Given the description of an element on the screen output the (x, y) to click on. 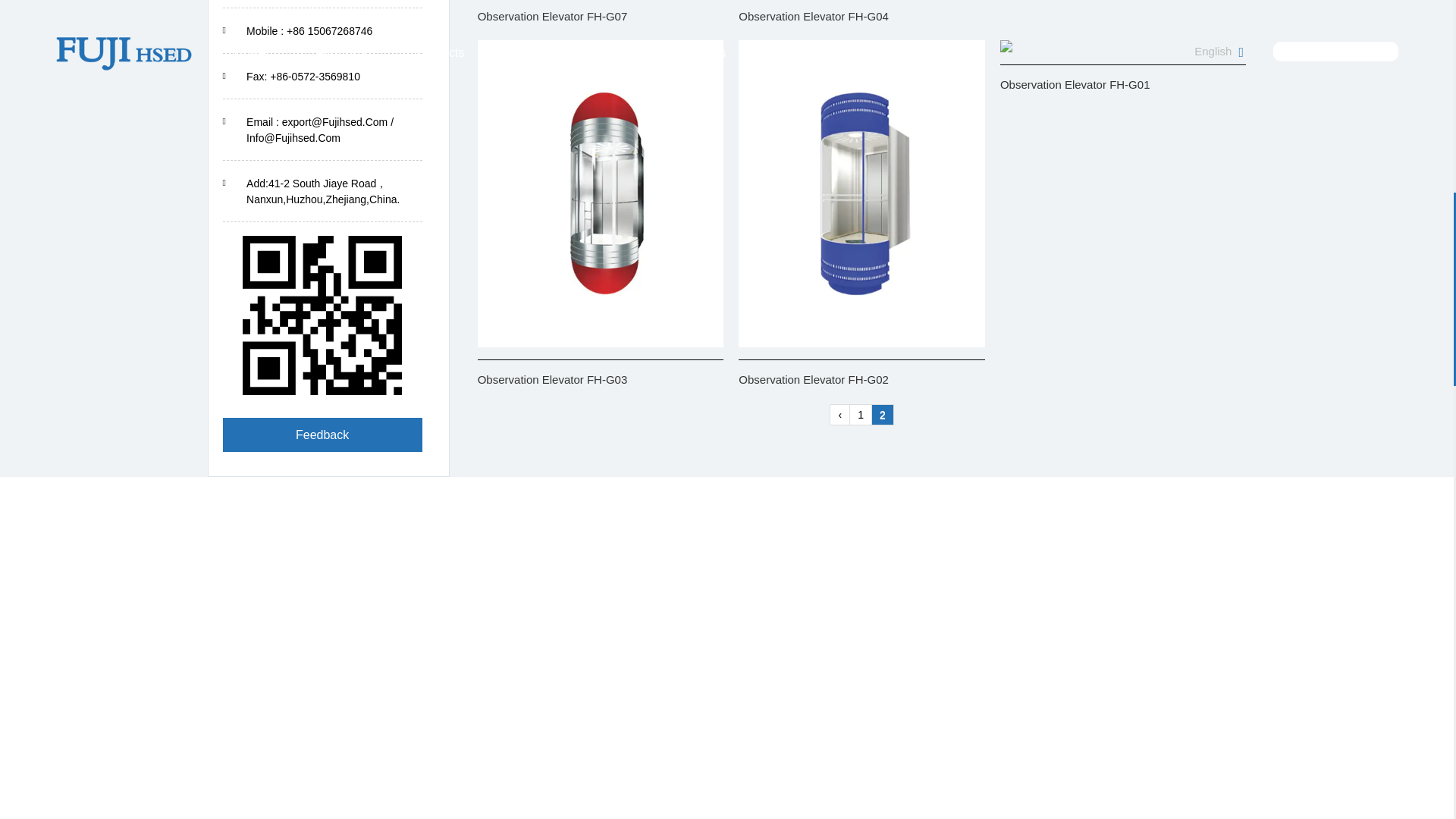
com (322, 314)
Observation Elevator FH-G01 (1005, 46)
